Given the description of an element on the screen output the (x, y) to click on. 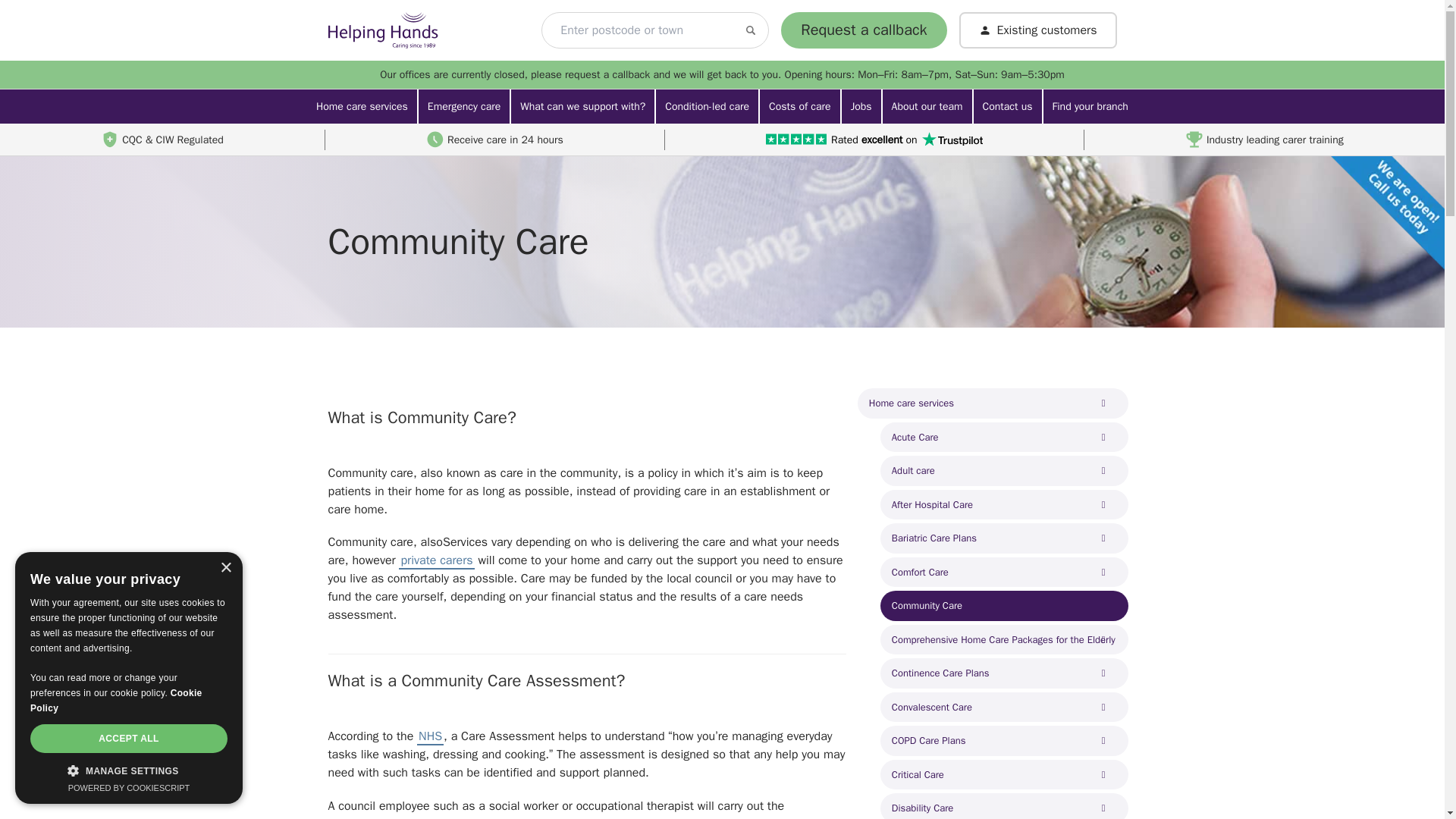
Request a callback (863, 29)
Existing customers (1037, 30)
